Given the description of an element on the screen output the (x, y) to click on. 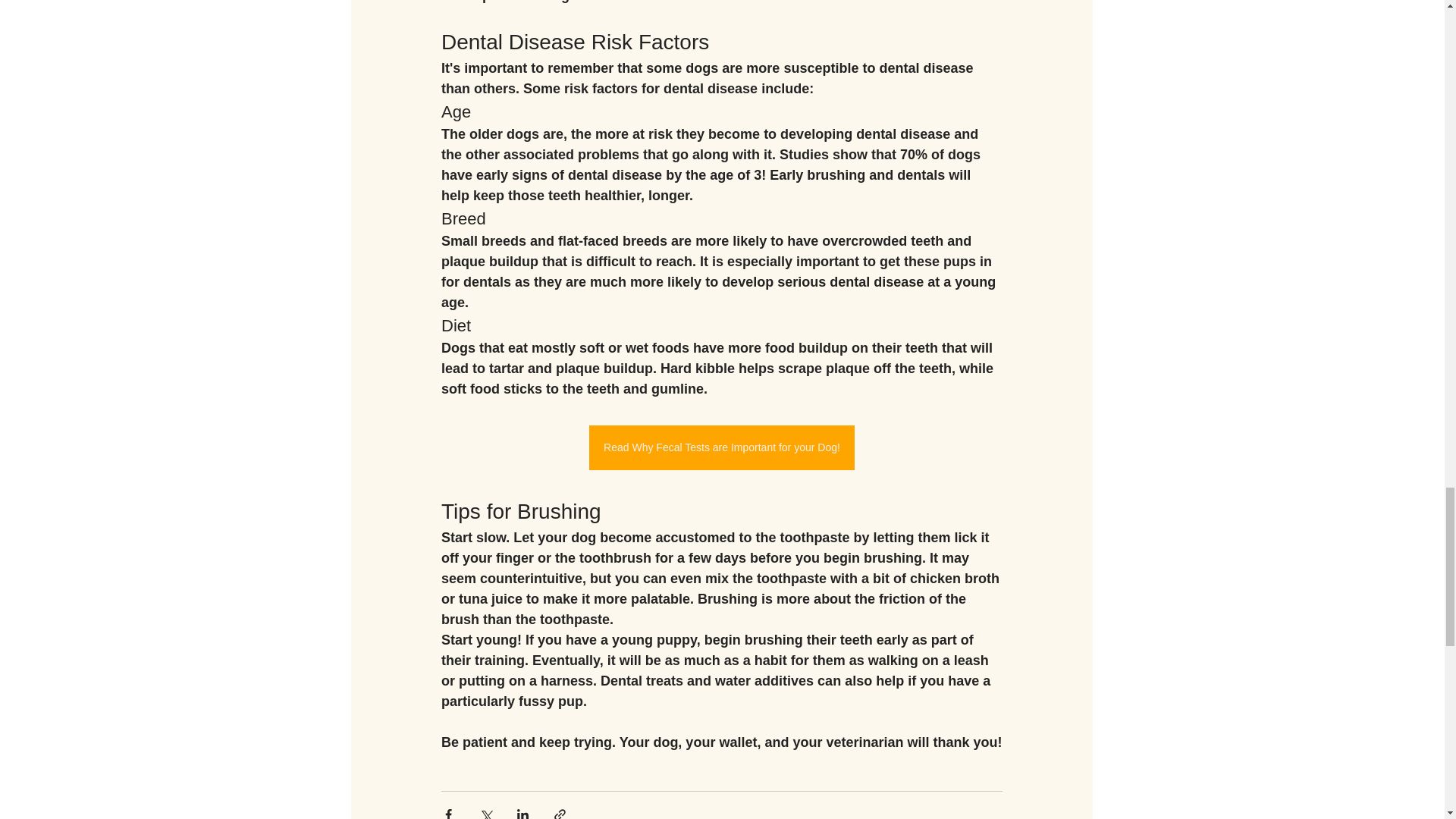
Read Why Fecal Tests are Important for your Dog! (721, 447)
